Given the description of an element on the screen output the (x, y) to click on. 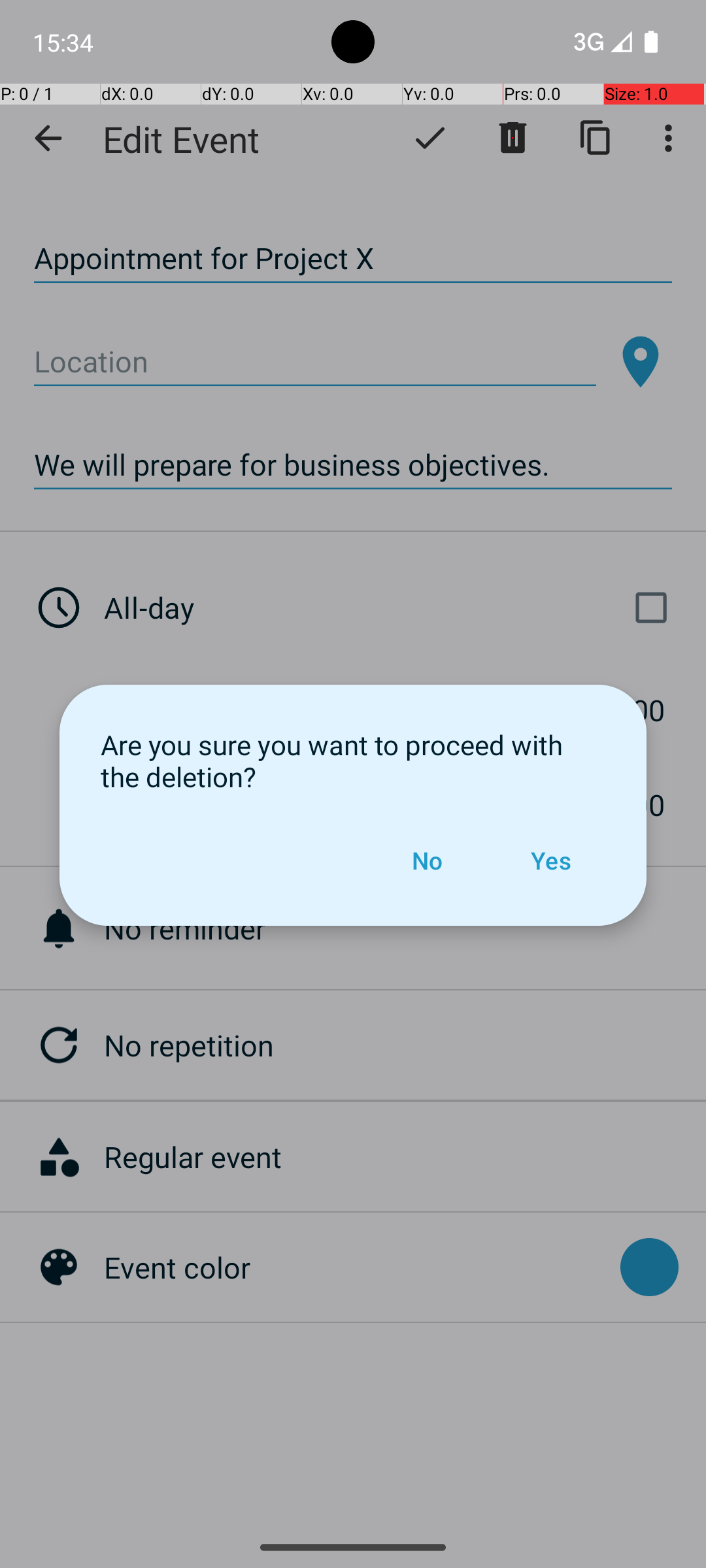
Are you sure you want to proceed with the deletion? Element type: android.widget.TextView (352, 760)
